Given the description of an element on the screen output the (x, y) to click on. 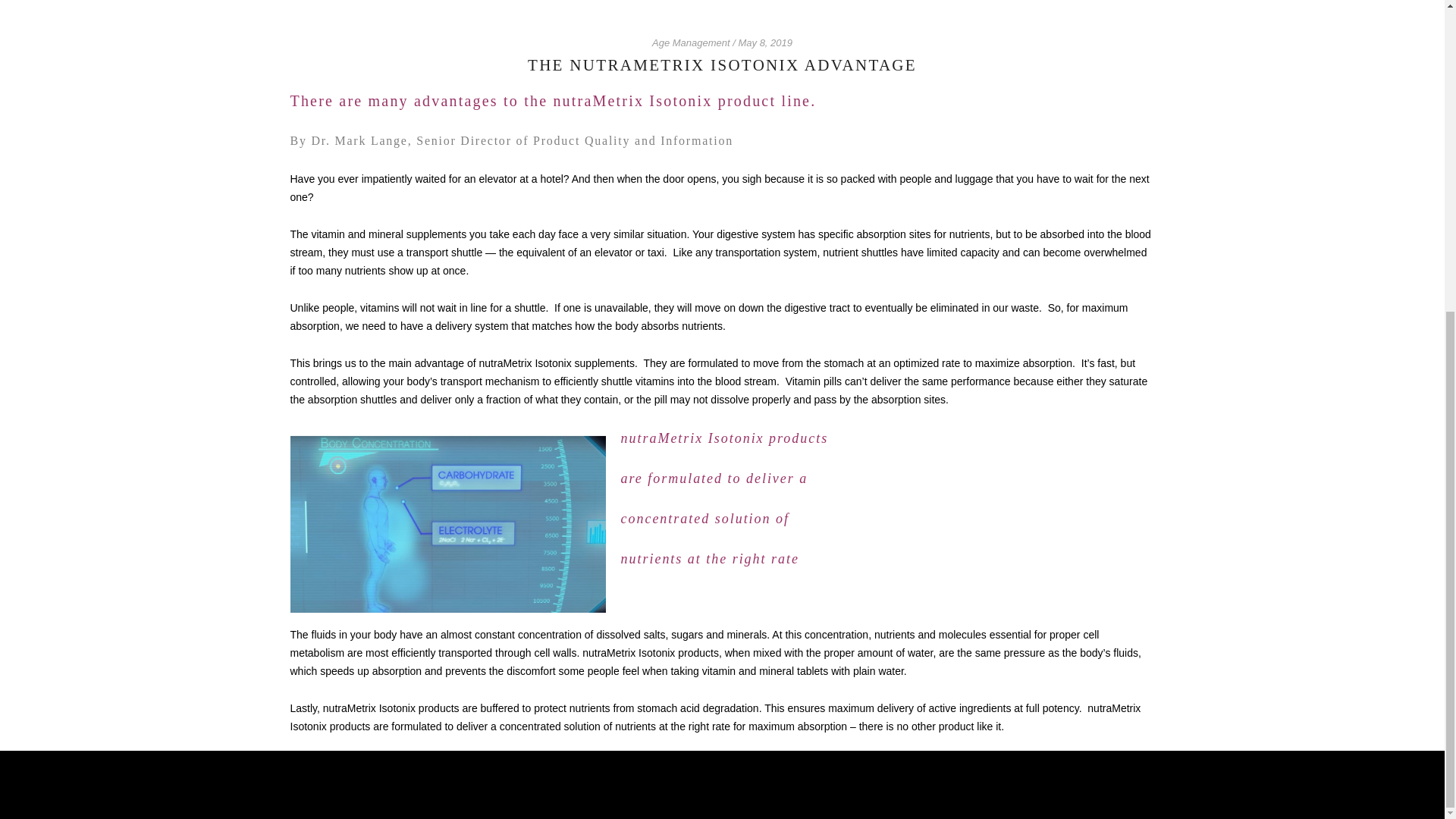
View all posts in Age Management (691, 42)
